Given the description of an element on the screen output the (x, y) to click on. 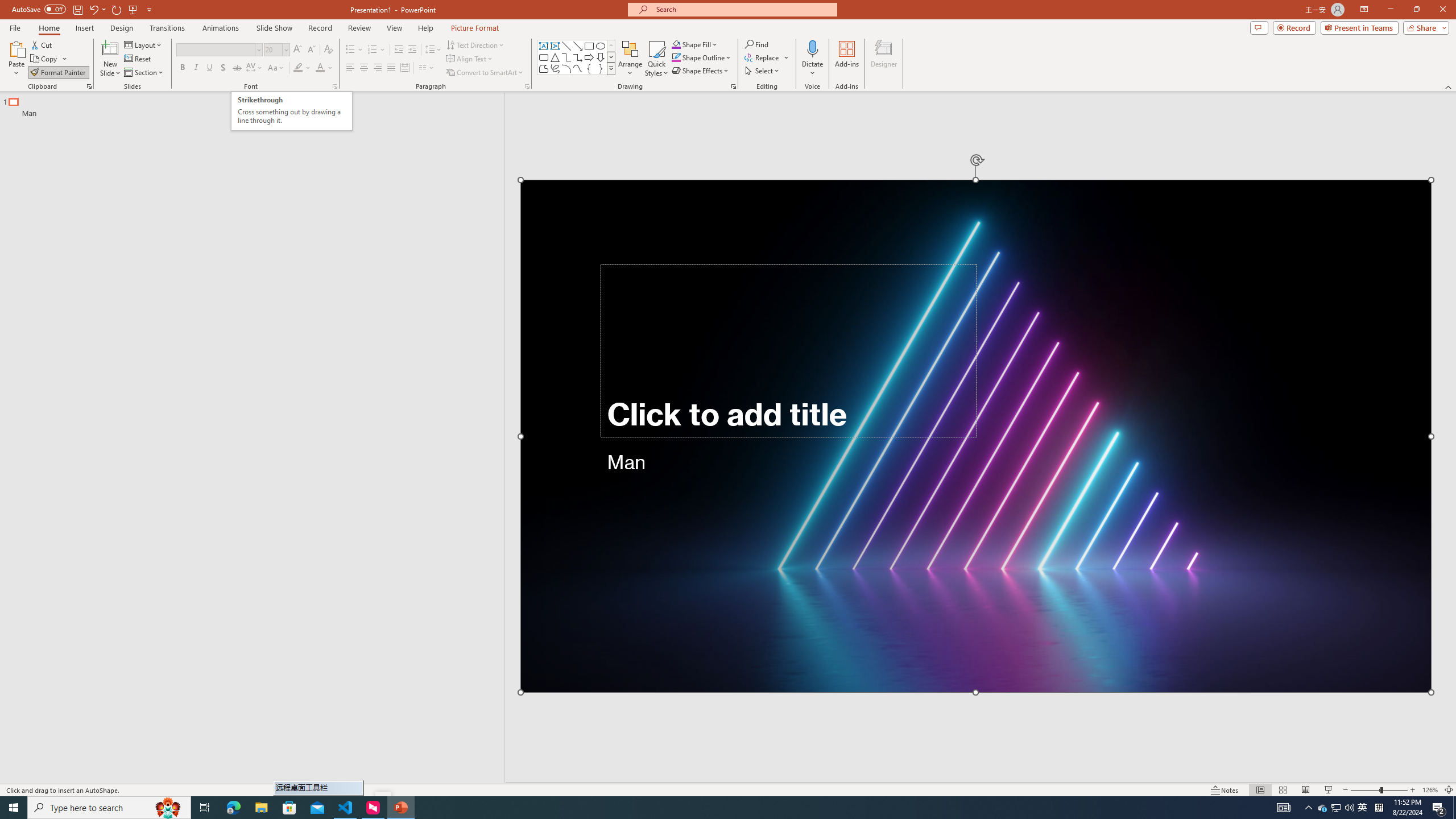
Picture Format (475, 28)
